Given the description of an element on the screen output the (x, y) to click on. 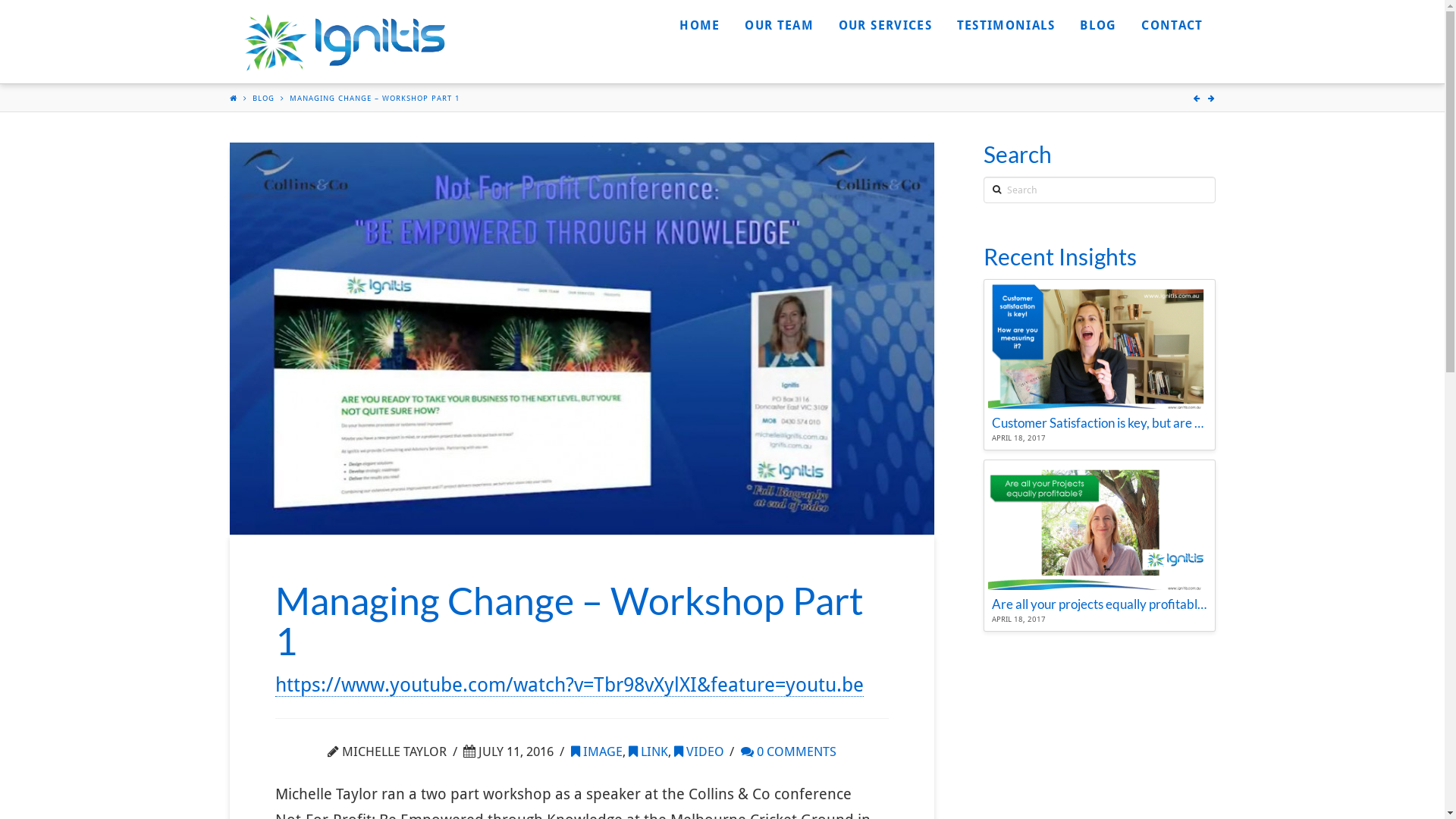
0 COMMENTS Element type: text (788, 751)
IMAGE Element type: text (596, 751)
HOME Element type: text (698, 37)
BLOG Element type: text (262, 98)
OUR SERVICES Element type: text (884, 37)
BLOG Element type: text (1097, 37)
Bright Sparks Facilitating Business Excellence Element type: hover (342, 41)
https://www.youtube.com/watch?v=Tbr98vXylXI&feature=youtu.be Element type: text (568, 684)
OUR TEAM Element type: text (778, 37)
CONTACT Element type: text (1171, 37)
TESTIMONIALS Element type: text (1005, 37)
VIDEO Element type: text (699, 751)
LINK Element type: text (648, 751)
Are all your projects equally profitable?
APRIL 18, 2017 Element type: text (1099, 545)
